Given the description of an element on the screen output the (x, y) to click on. 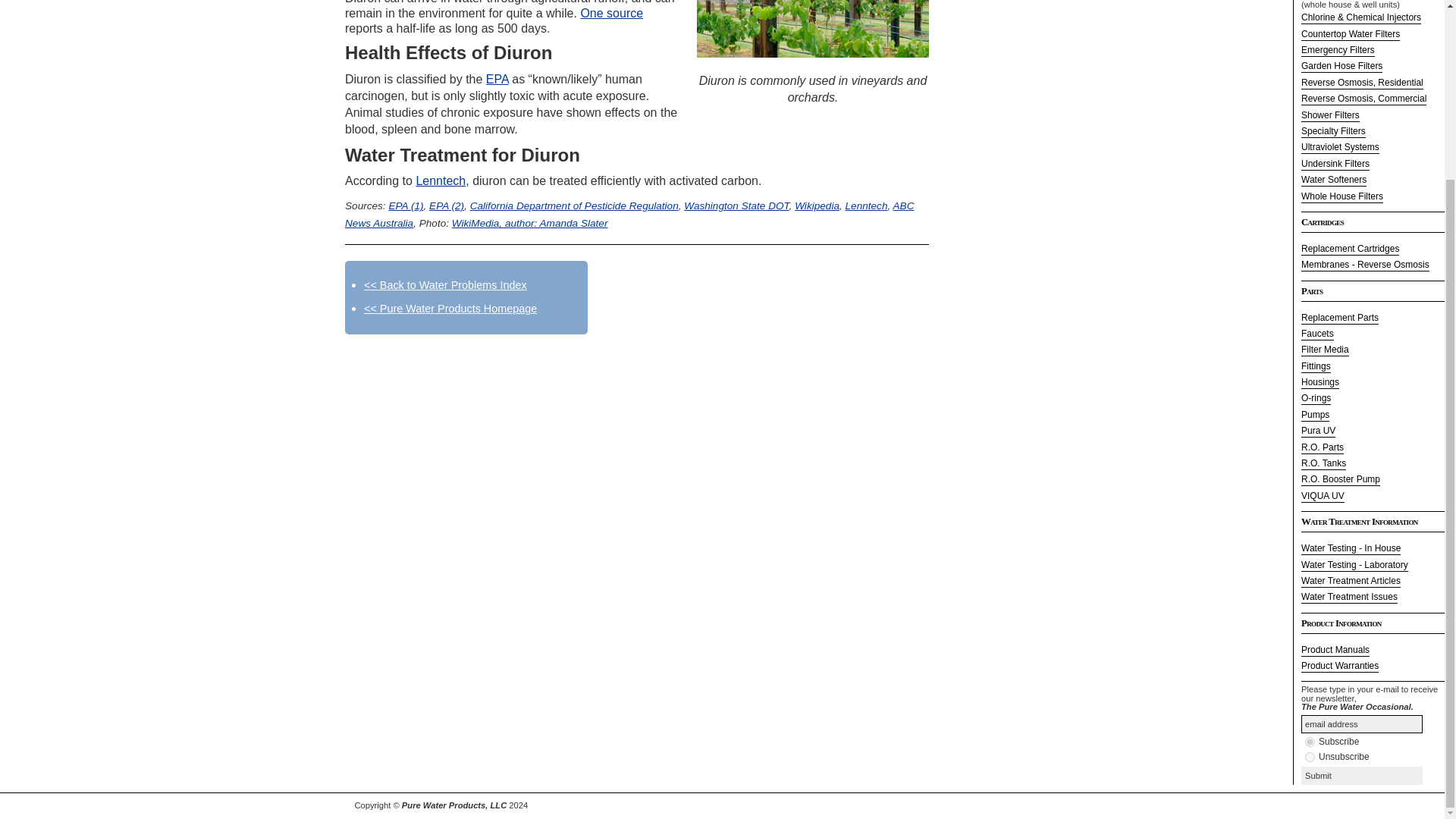
Replacement Cartridges (1350, 249)
Lenntech (439, 180)
Reverse Osmosis, Residential (1362, 82)
Countertop Water Filters (1350, 34)
Shower Filters (1330, 115)
Membranes - Reverse Osmosis (1365, 265)
subscribe (1309, 741)
Water Softeners (1334, 180)
WikiMedia, author: Amanda Slater (529, 223)
Washington State DOT (736, 205)
